Given the description of an element on the screen output the (x, y) to click on. 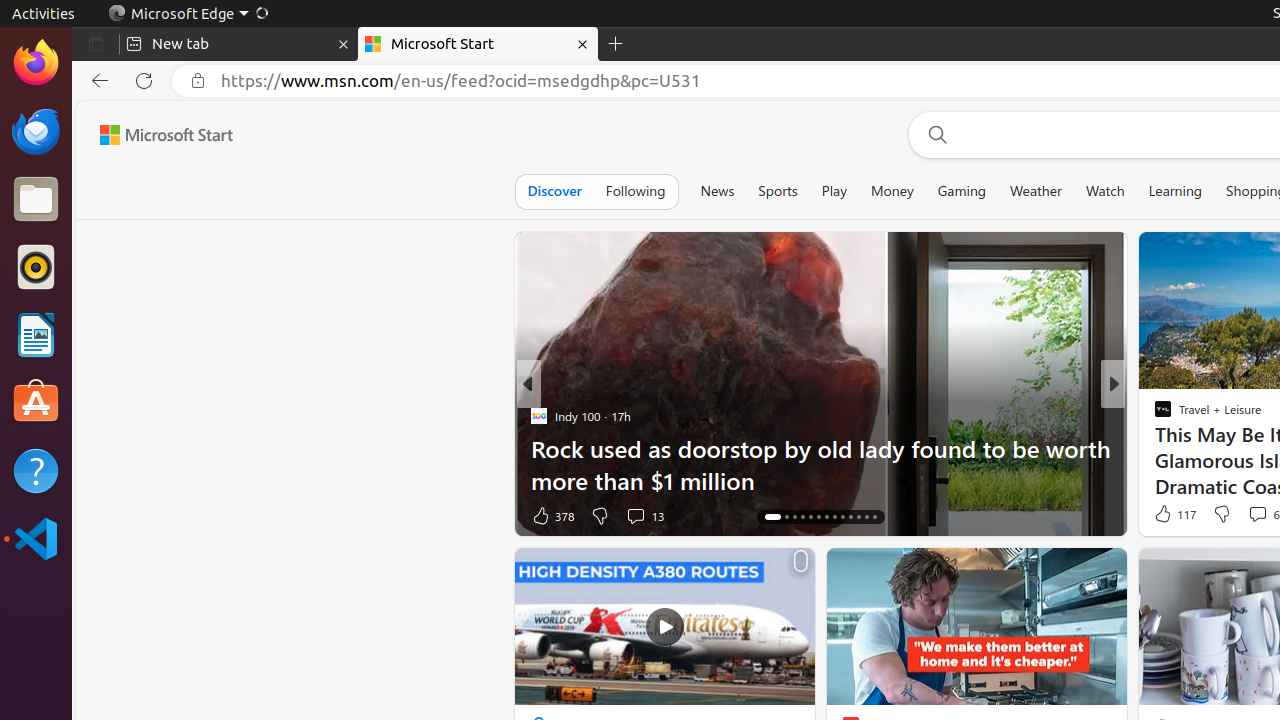
317 Like Element type: toggle-button (1168, 515)
Microsoft Edge Element type: menu (188, 13)
Skip to footer Element type: push-button (154, 135)
Close tab Element type: push-button (343, 44)
530 Like Element type: toggle-button (1168, 515)
